Given the description of an element on the screen output the (x, y) to click on. 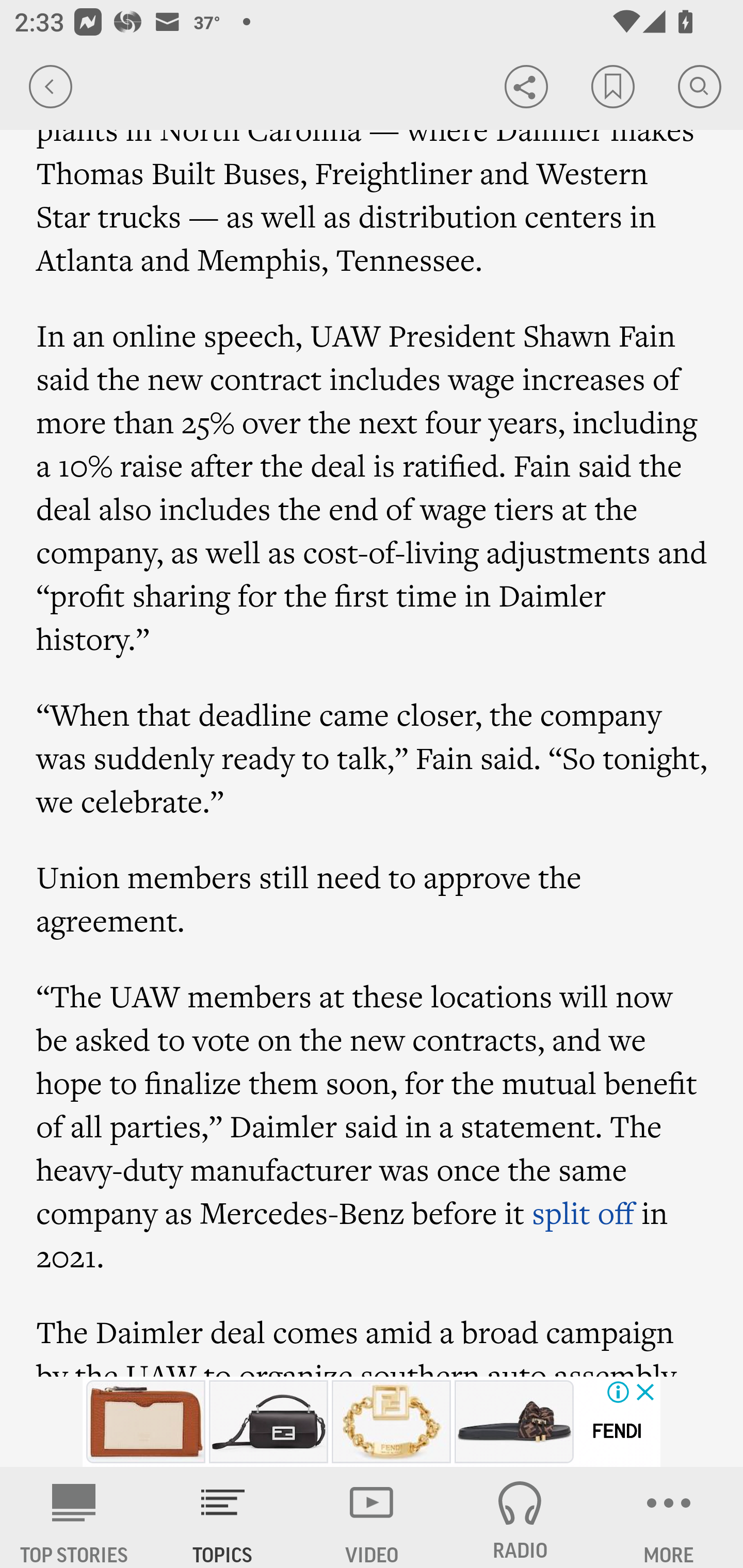
split off (583, 1212)
fendi-feel-brown-satin-slides-8x8142ae7sf0r7v (513, 1420)
AP News TOP STORIES (74, 1517)
TOPICS (222, 1517)
VIDEO (371, 1517)
RADIO (519, 1517)
MORE (668, 1517)
